Given the description of an element on the screen output the (x, y) to click on. 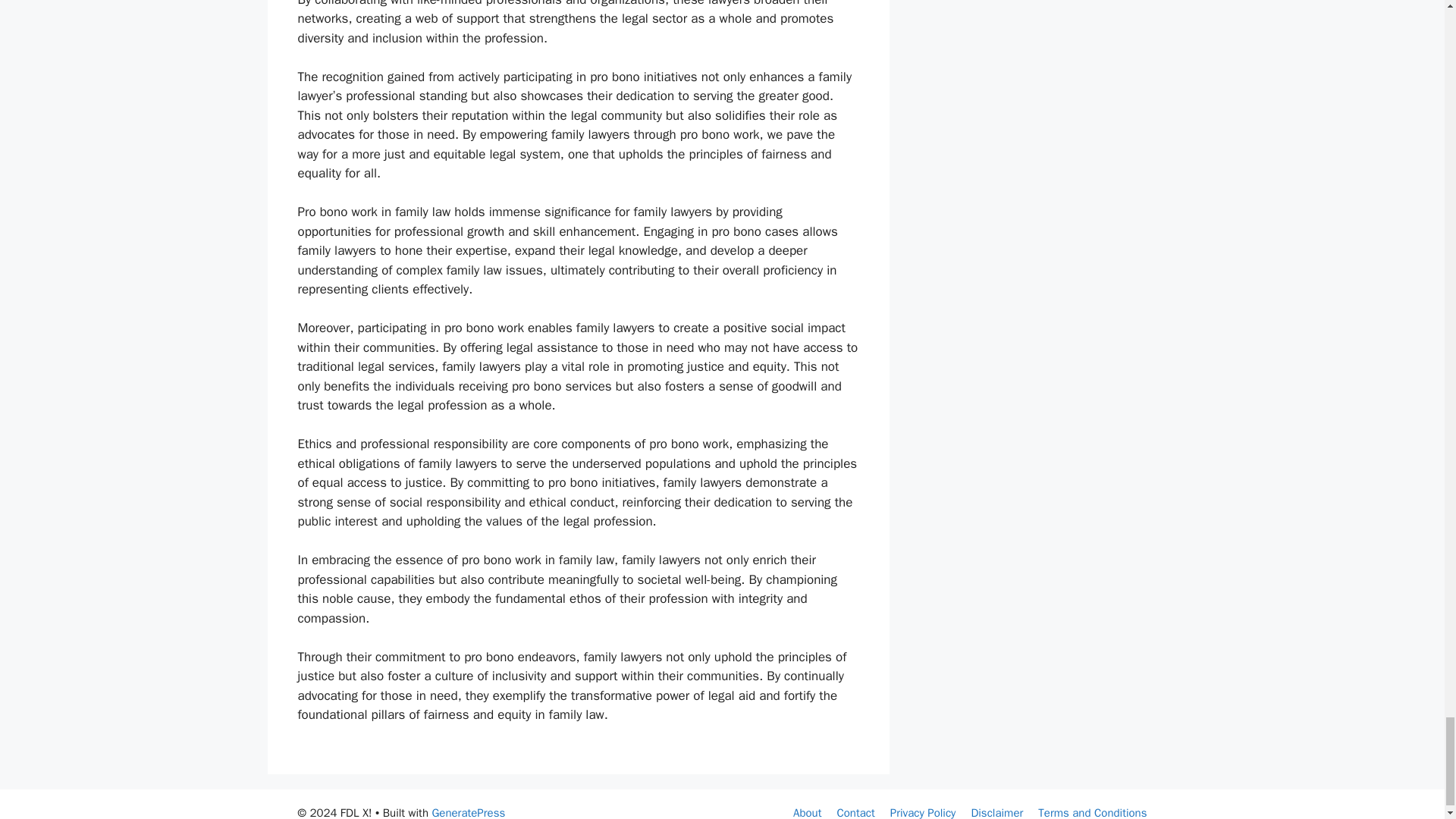
Contact (855, 812)
Disclaimer (997, 812)
Privacy Policy (922, 812)
GeneratePress (467, 812)
Terms and Conditions (1092, 812)
About (807, 812)
